Given the description of an element on the screen output the (x, y) to click on. 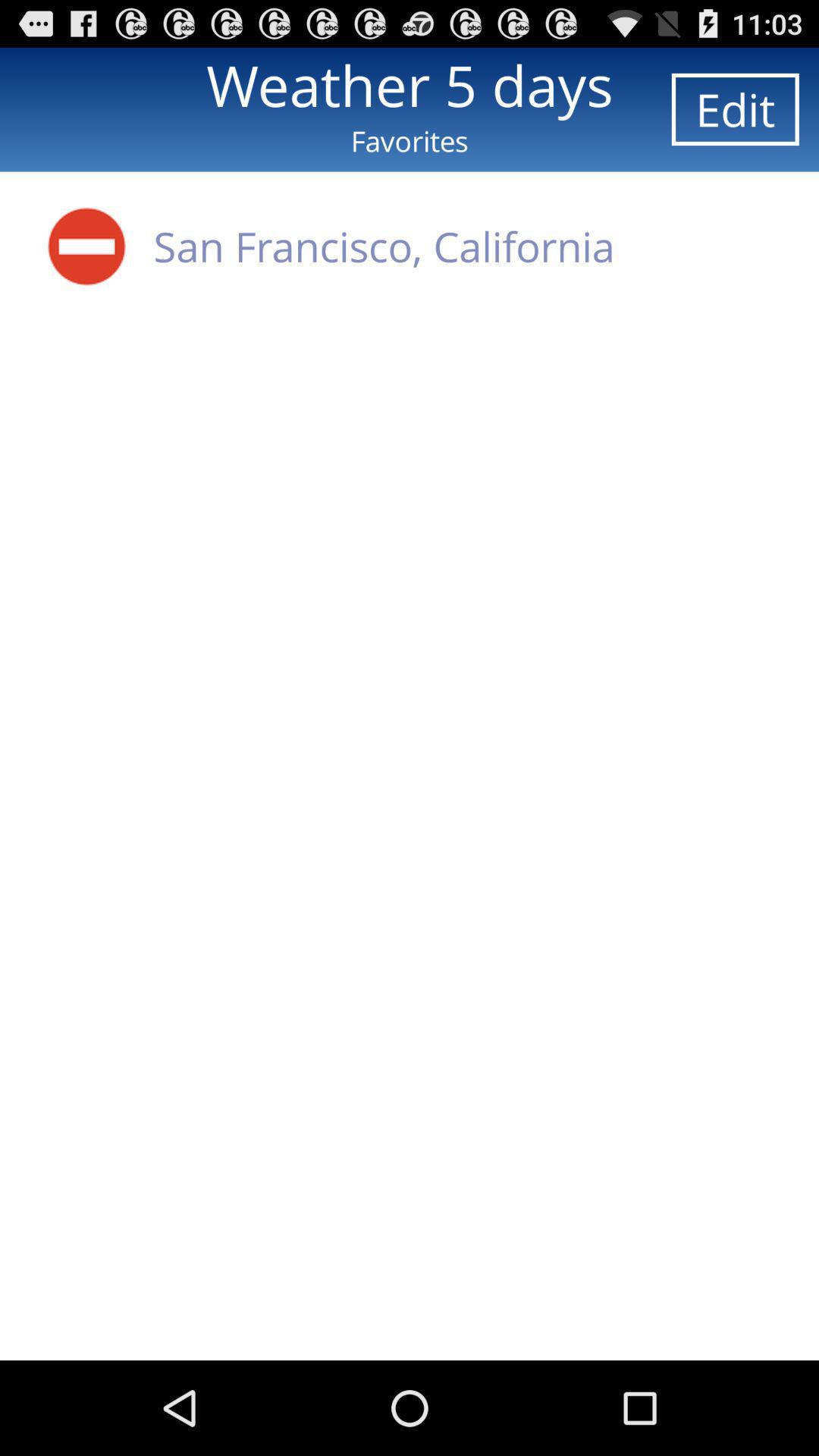
press app to the left of the san francisco, california (86, 245)
